Given the description of an element on the screen output the (x, y) to click on. 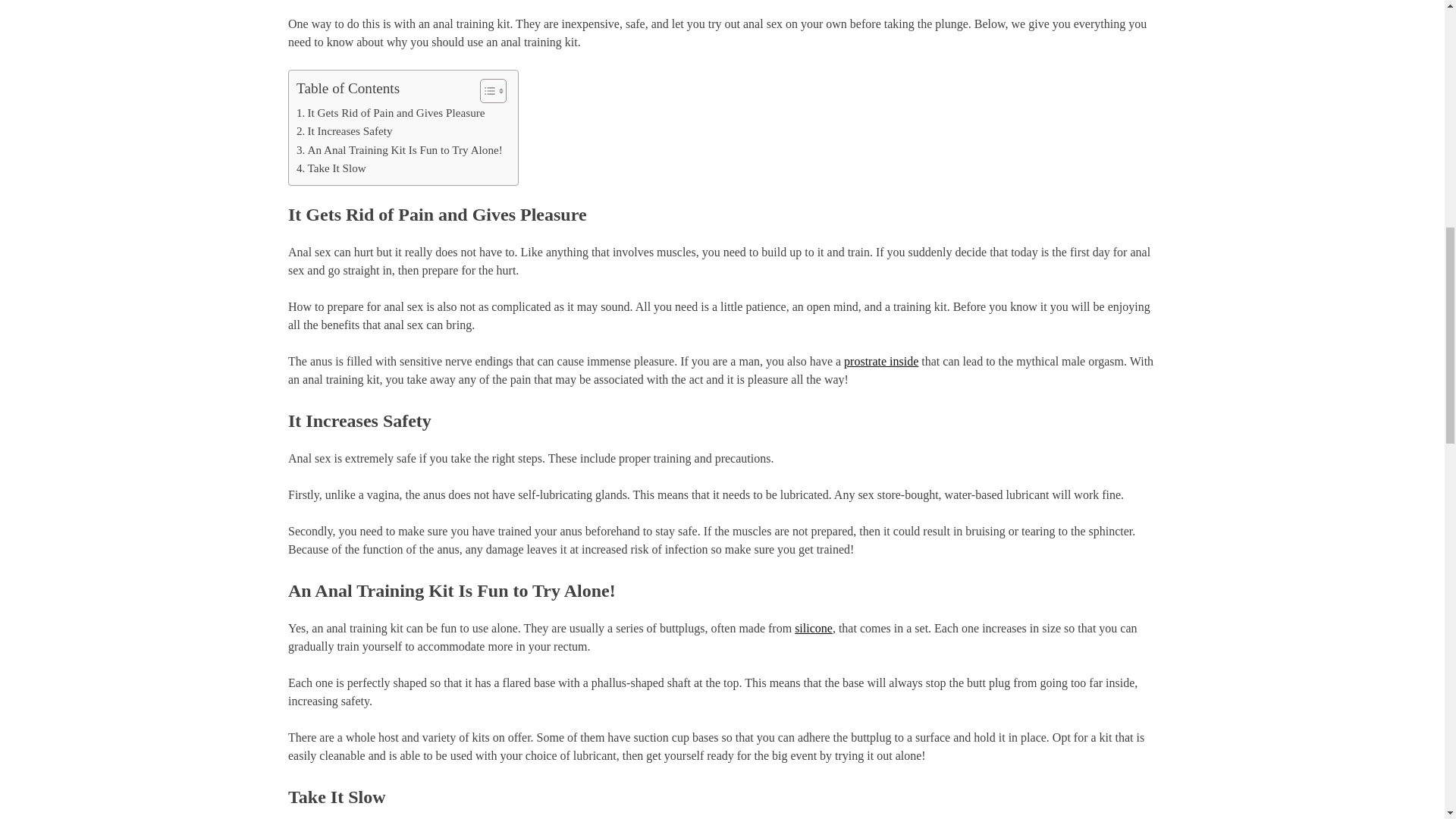
It Gets Rid of Pain and Gives Pleasure (390, 113)
It Increases Safety (345, 131)
An Anal Training Kit Is Fun to Try Alone! (399, 149)
Take It Slow (331, 167)
